Given the description of an element on the screen output the (x, y) to click on. 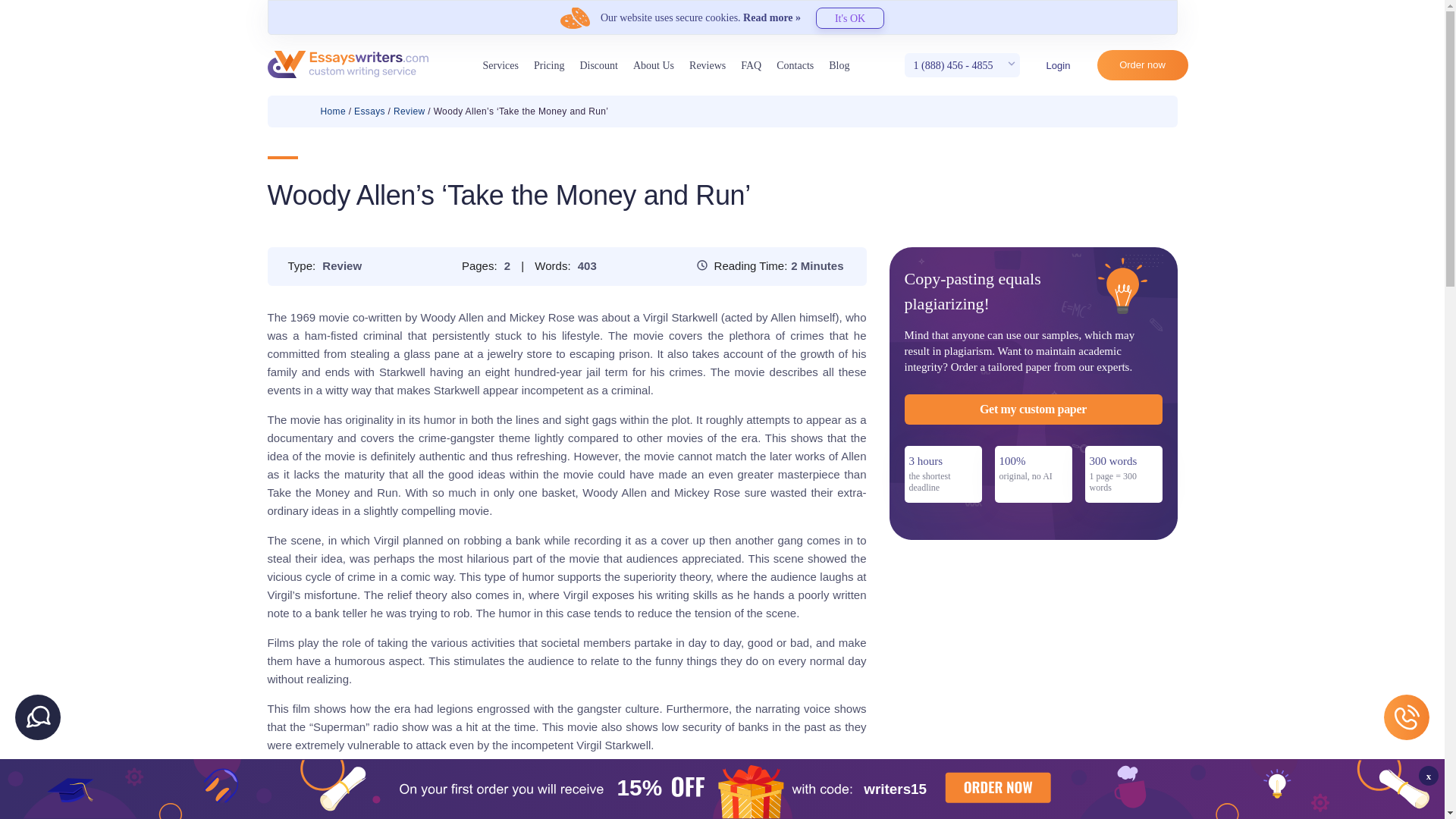
Services (500, 64)
It's OK (849, 17)
